Given the description of an element on the screen output the (x, y) to click on. 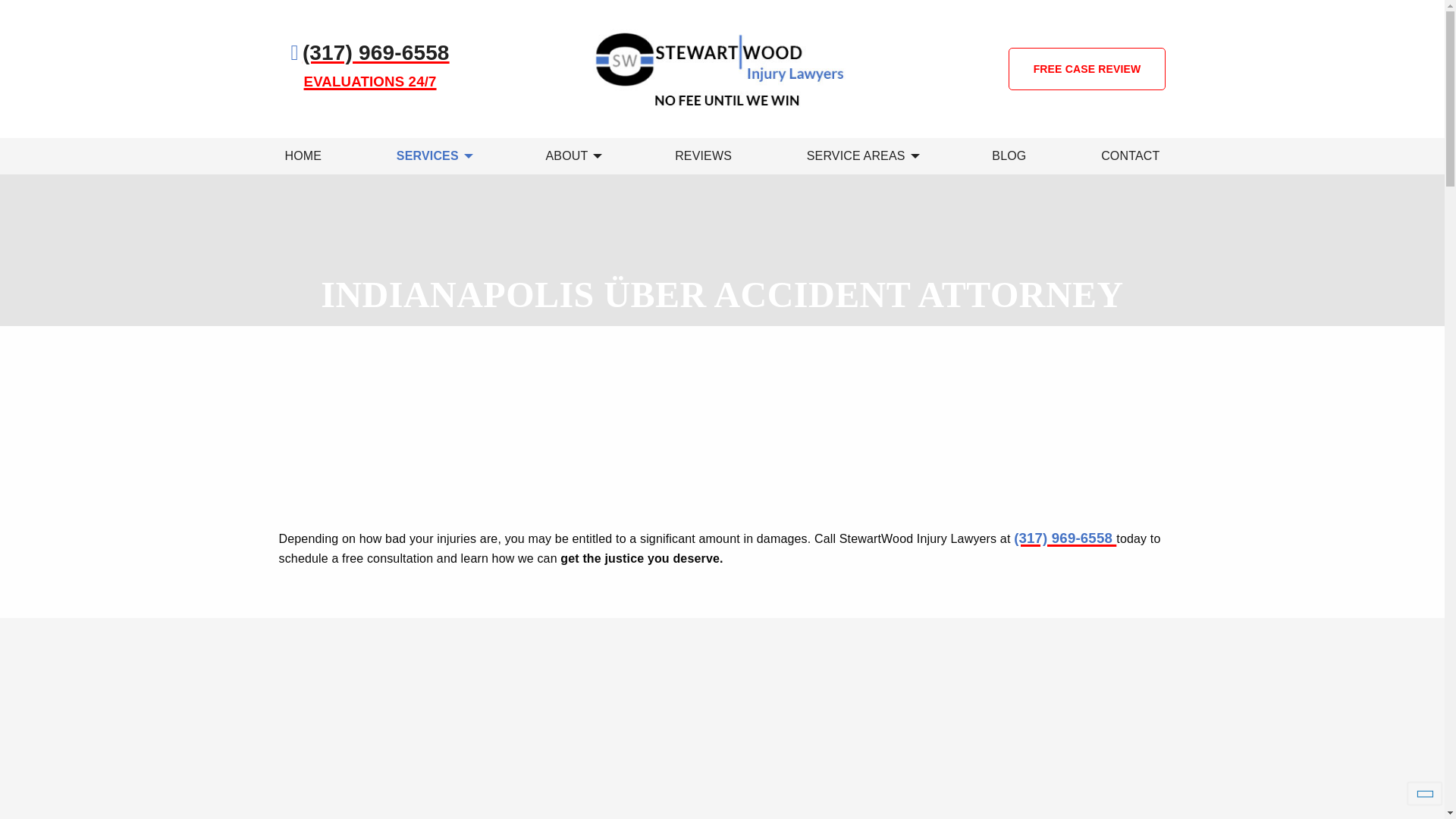
CONTACT (1130, 156)
SERVICES (433, 156)
ABOUT (571, 156)
HOME (304, 156)
SERVICE AREAS (861, 156)
FREE CASE REVIEW (1087, 68)
BLOG (1008, 156)
REVIEWS (703, 156)
